Given the description of an element on the screen output the (x, y) to click on. 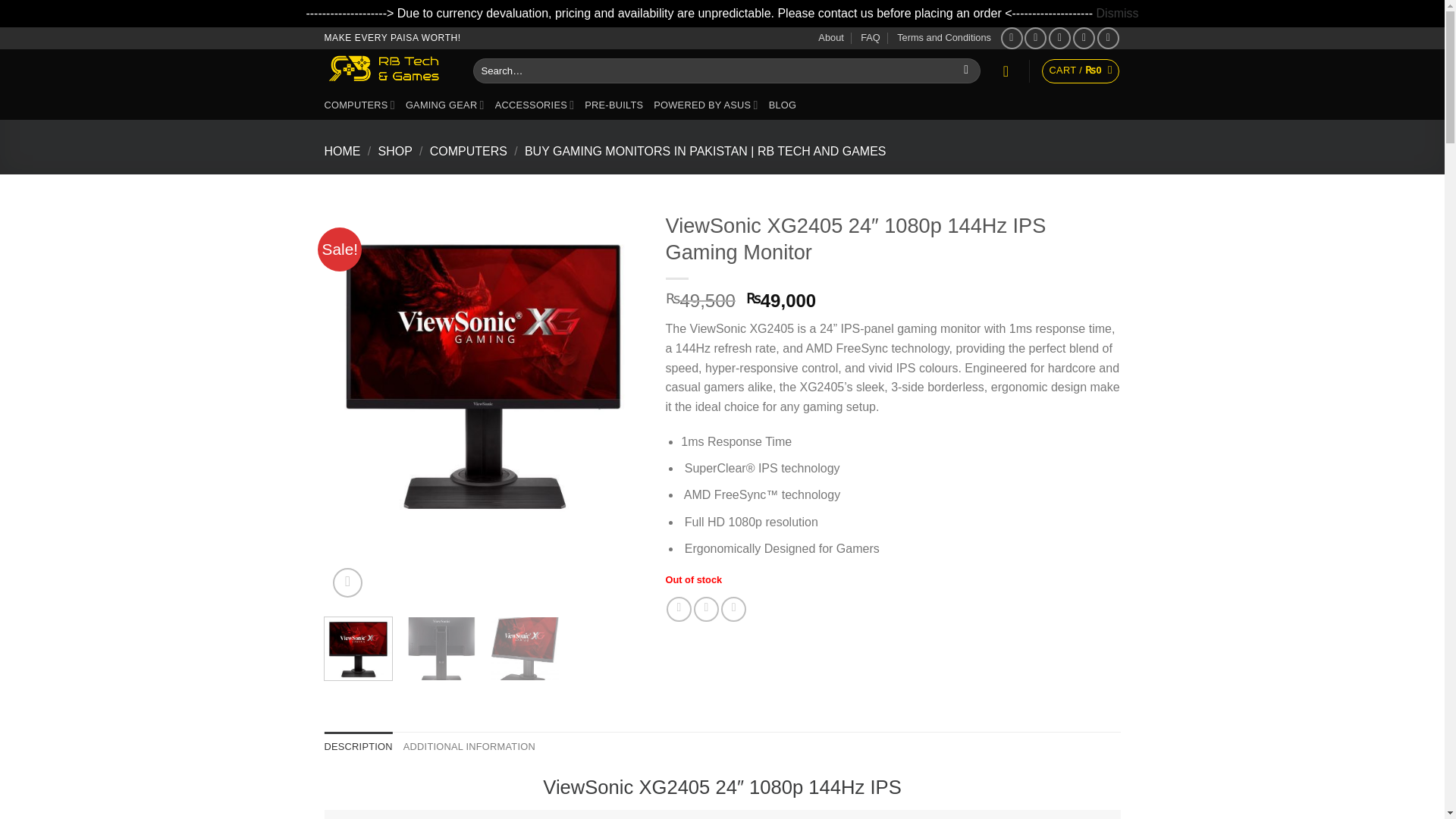
GAMING GEAR (445, 104)
Zoom (347, 582)
Follow on Instagram (1035, 38)
Dismiss (1117, 12)
Cart (1080, 70)
Call us (1108, 38)
FAQ (870, 37)
About (830, 37)
Search (965, 71)
Send us an email (1083, 38)
